Given the description of an element on the screen output the (x, y) to click on. 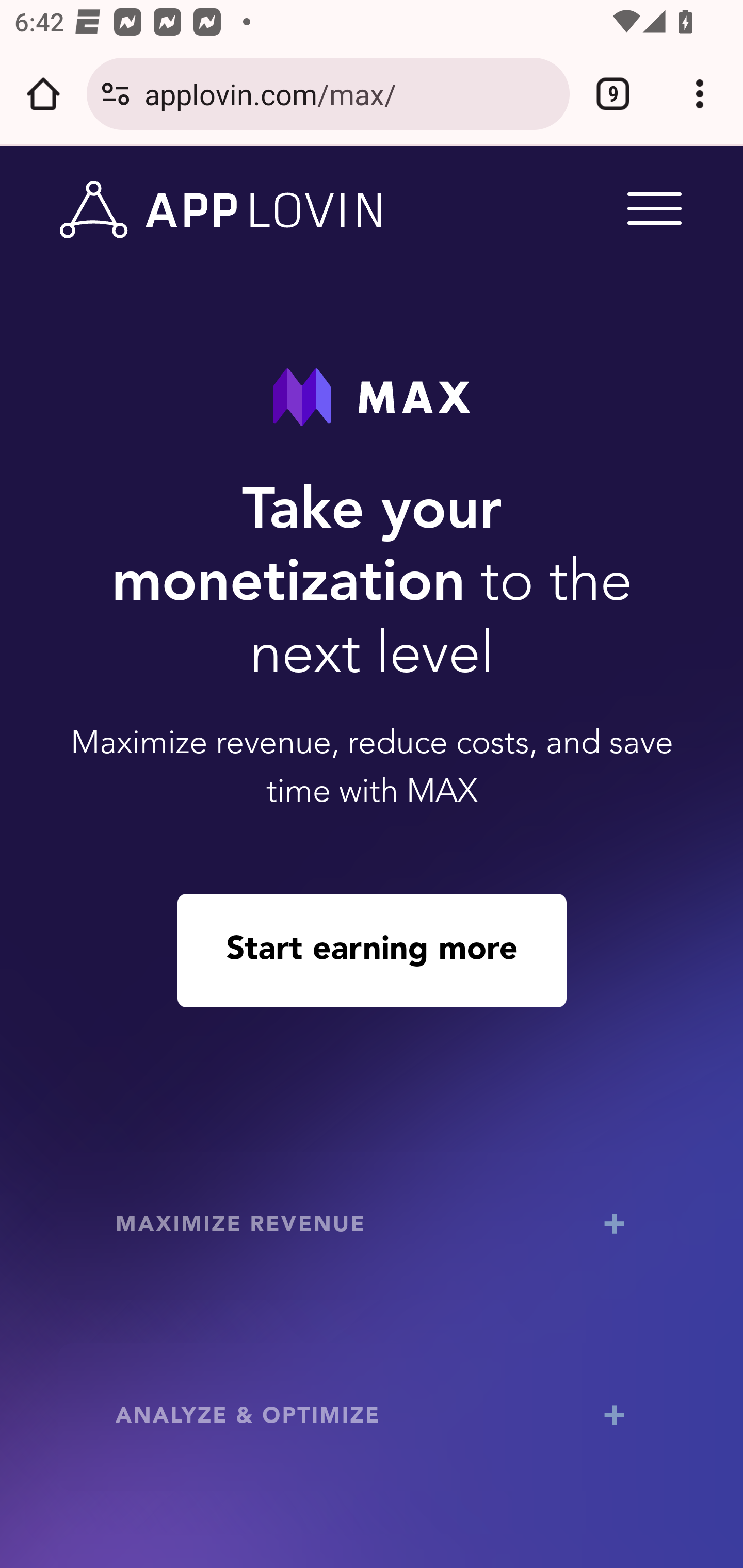
Open the home page (43, 93)
Connection is secure (115, 93)
Switch or close tabs (612, 93)
Customize and control Google Chrome (699, 93)
applovin.com/max/ (349, 92)
Menu Trigger (650, 207)
www.applovin (220, 209)
Start earning more (371, 950)
